Given the description of an element on the screen output the (x, y) to click on. 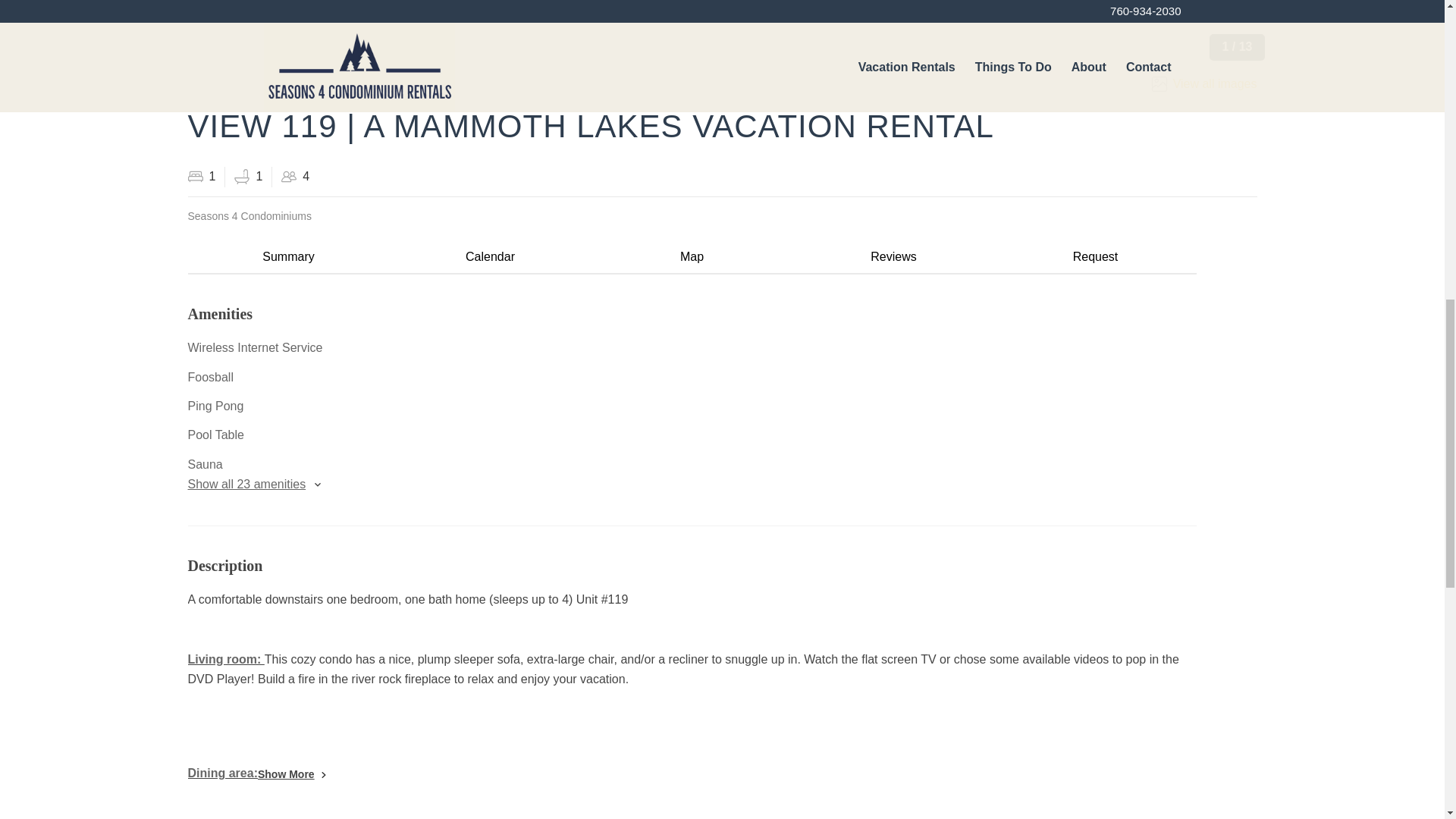
Calendar (490, 257)
Summary (288, 257)
Show More (291, 774)
Reviews (893, 257)
Map (692, 257)
View all images (1201, 84)
Request (1095, 257)
